Given the description of an element on the screen output the (x, y) to click on. 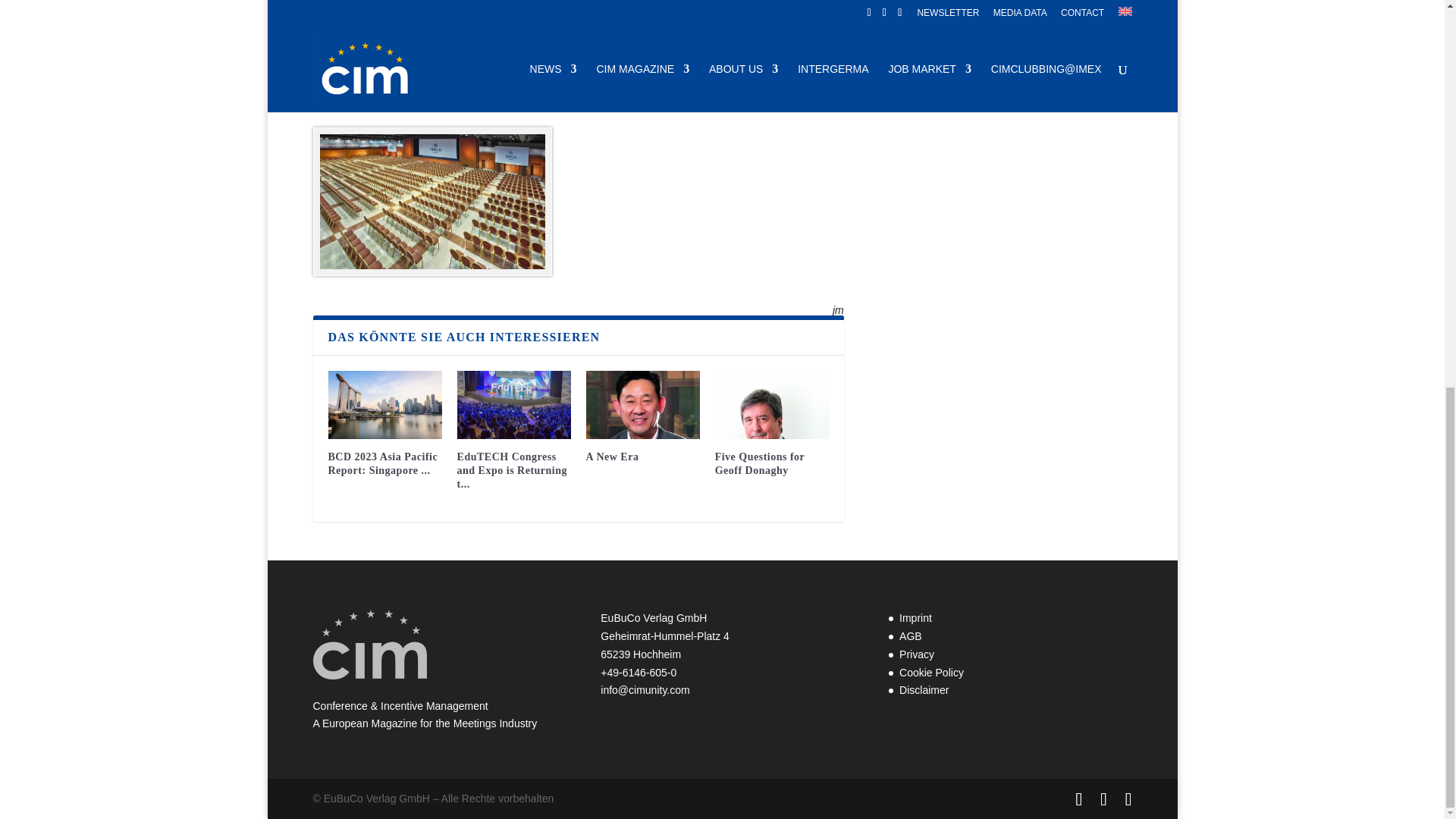
BCD 2023 Asia Pacific Report: Singapore in Front (384, 404)
EduTECH Congress and Expo is Returning to Sydney (513, 404)
A New Era (643, 404)
Five Questions for Geoff Donaghy (771, 404)
